Given the description of an element on the screen output the (x, y) to click on. 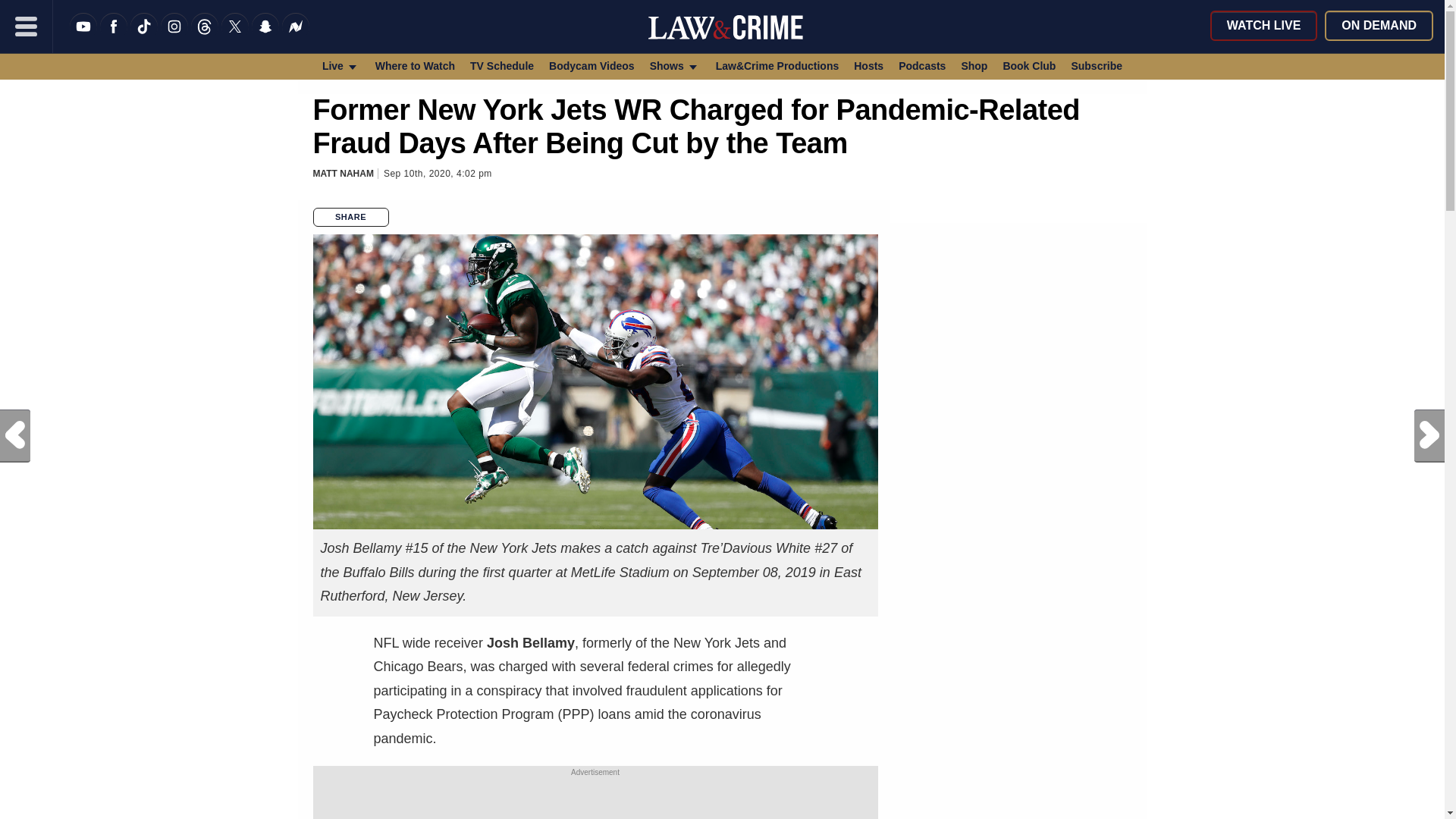
YouTube (83, 35)
Snapchat (265, 35)
Instagram (173, 35)
TikTok (144, 35)
Threads (204, 35)
Like us on Facebook (114, 35)
News Break (295, 35)
Posts by Matt Naham (342, 173)
